Given the description of an element on the screen output the (x, y) to click on. 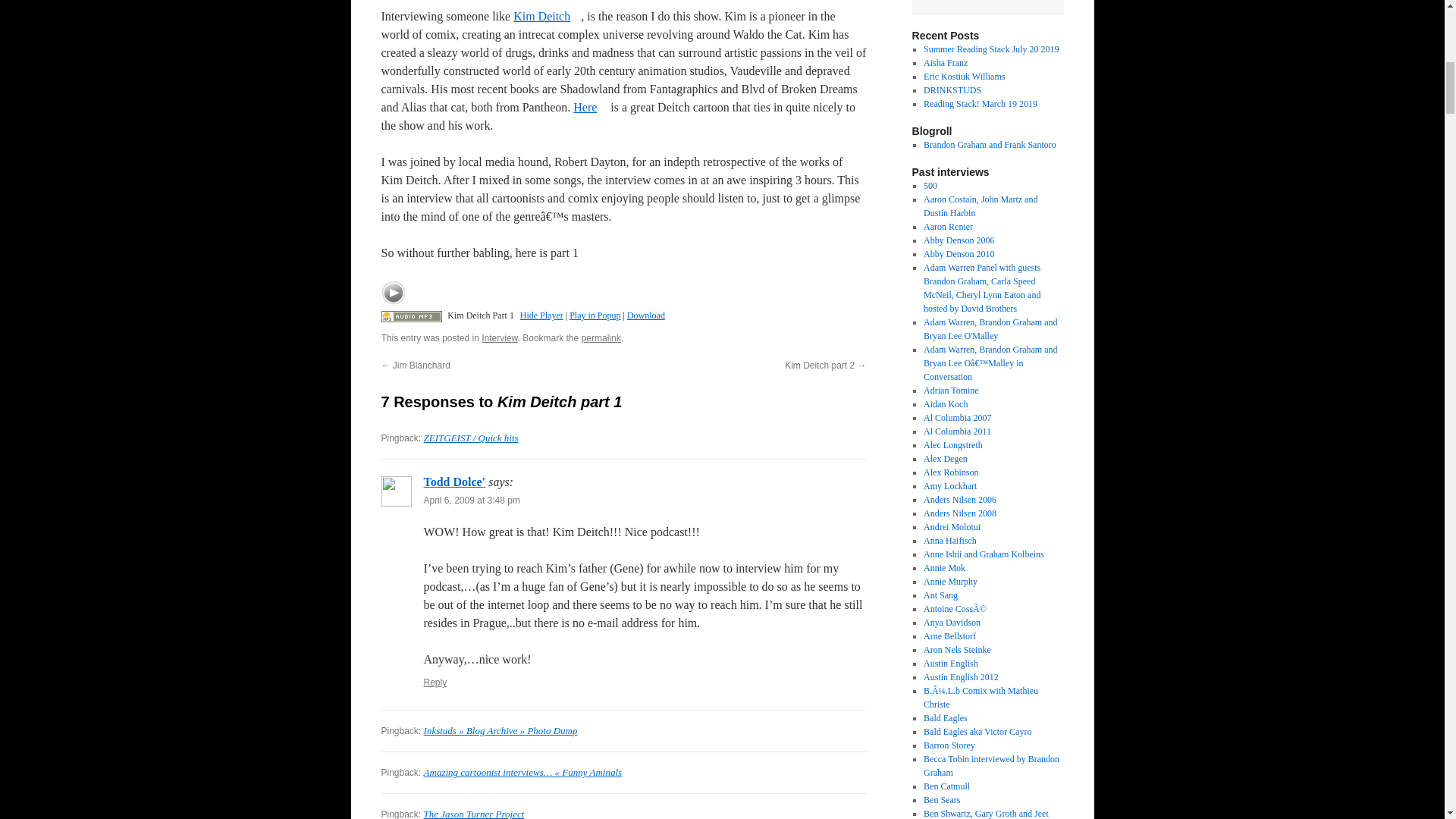
The Jason Turner Project (473, 813)
Aisha Franz (945, 62)
Play in Popup (594, 315)
Hide Player (541, 315)
Todd Dolce' (453, 481)
Eric Kostiuk Williams (963, 76)
Permalink to Kim Deitch part 1 (600, 337)
Here (590, 106)
April 6, 2009 at 3:48 pm (471, 500)
permalink (600, 337)
